Given the description of an element on the screen output the (x, y) to click on. 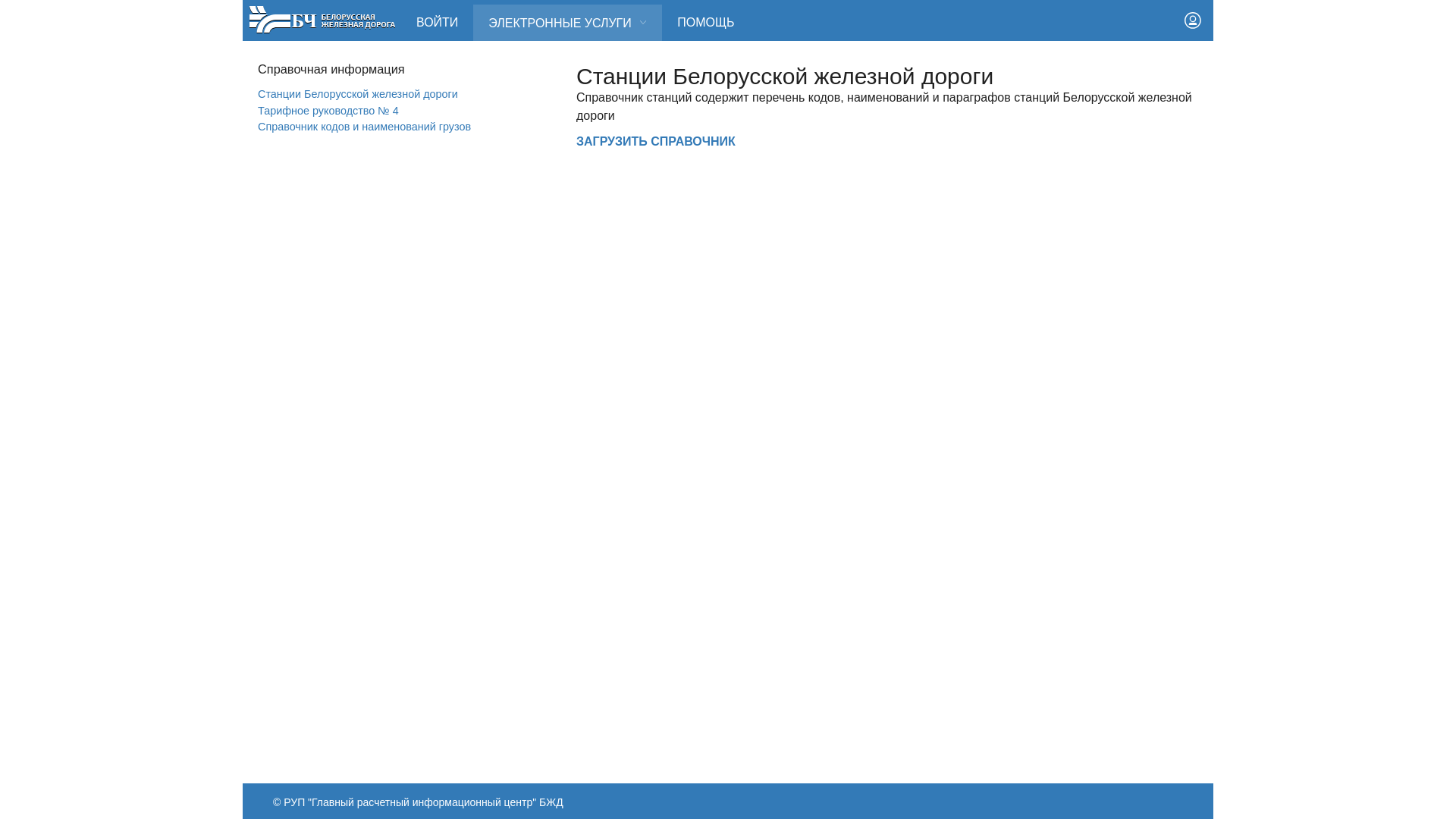
RW Logo Element type: hover (321, 18)
